Given the description of an element on the screen output the (x, y) to click on. 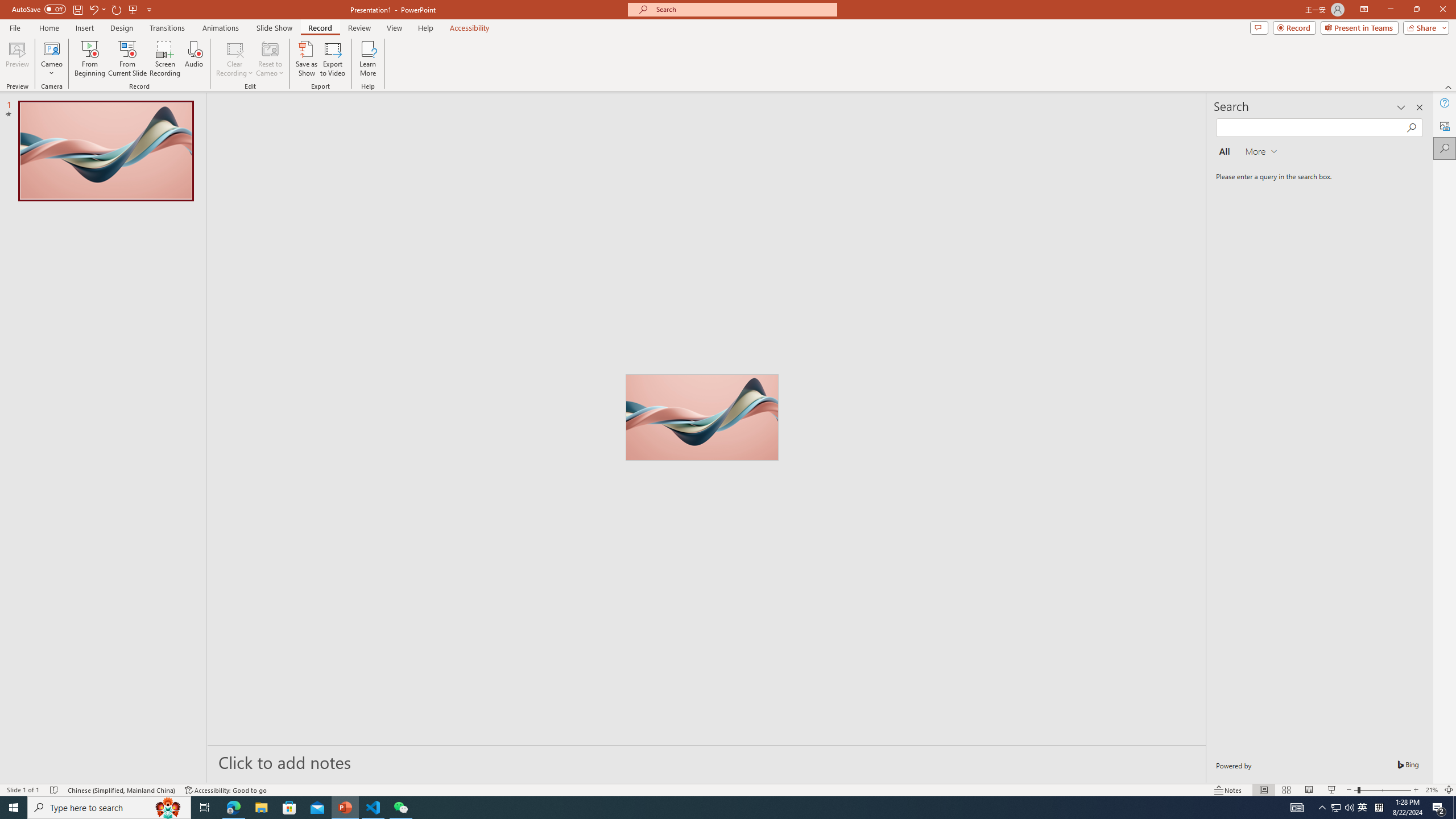
Zoom 21% (1431, 790)
Screen Recording (165, 58)
From Current Slide... (127, 58)
